Given the description of an element on the screen output the (x, y) to click on. 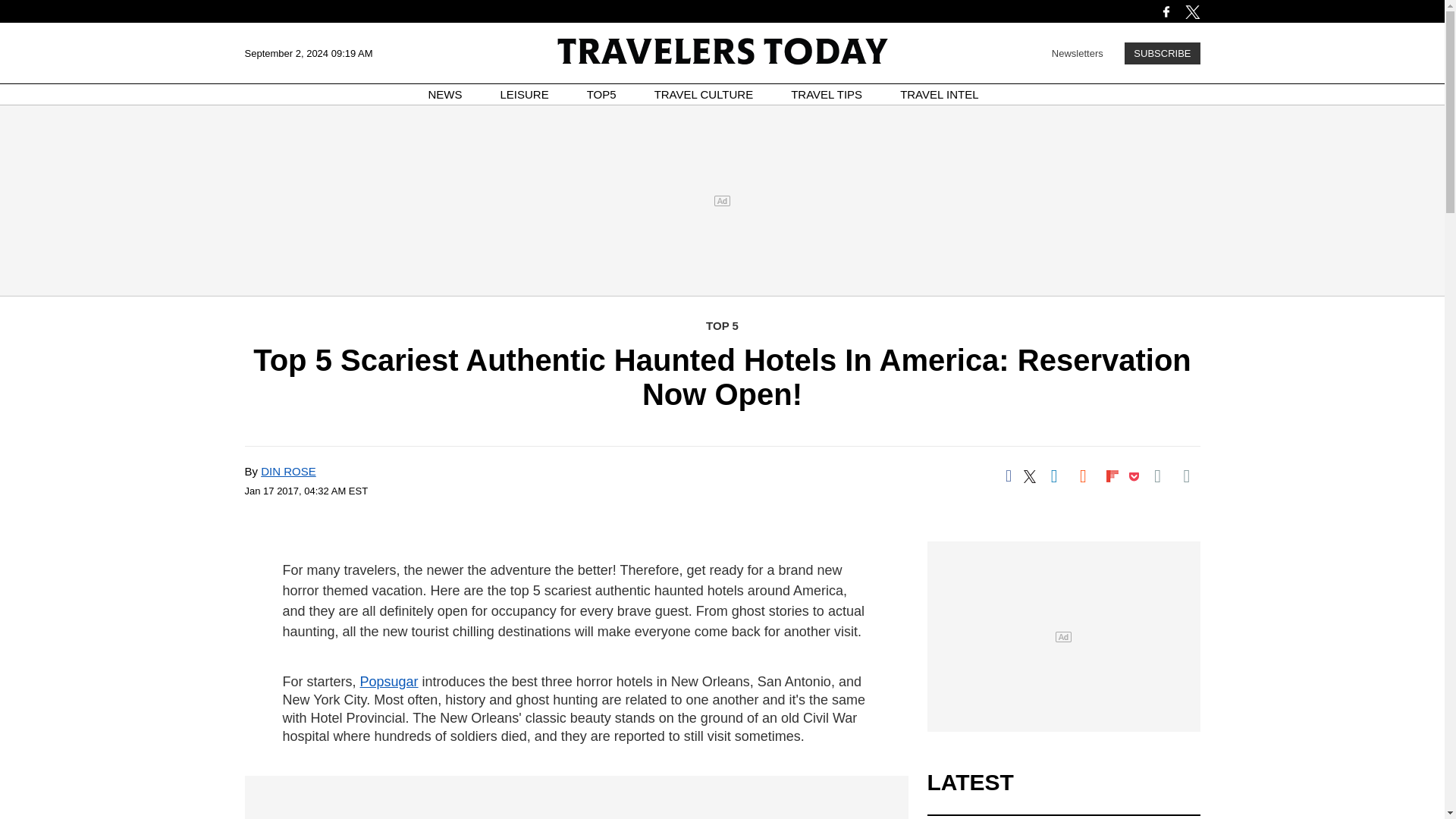
Share on Twitter (1030, 475)
Newsletters (1077, 52)
Share on Facebook (1008, 475)
LEISURE (524, 93)
SUBSCRIBE (1161, 53)
TOP 5 (722, 325)
TRAVEL INTEL (938, 93)
DIN ROSE (287, 471)
NEWS (445, 93)
Share on Flipboard (1112, 475)
